Given the description of an element on the screen output the (x, y) to click on. 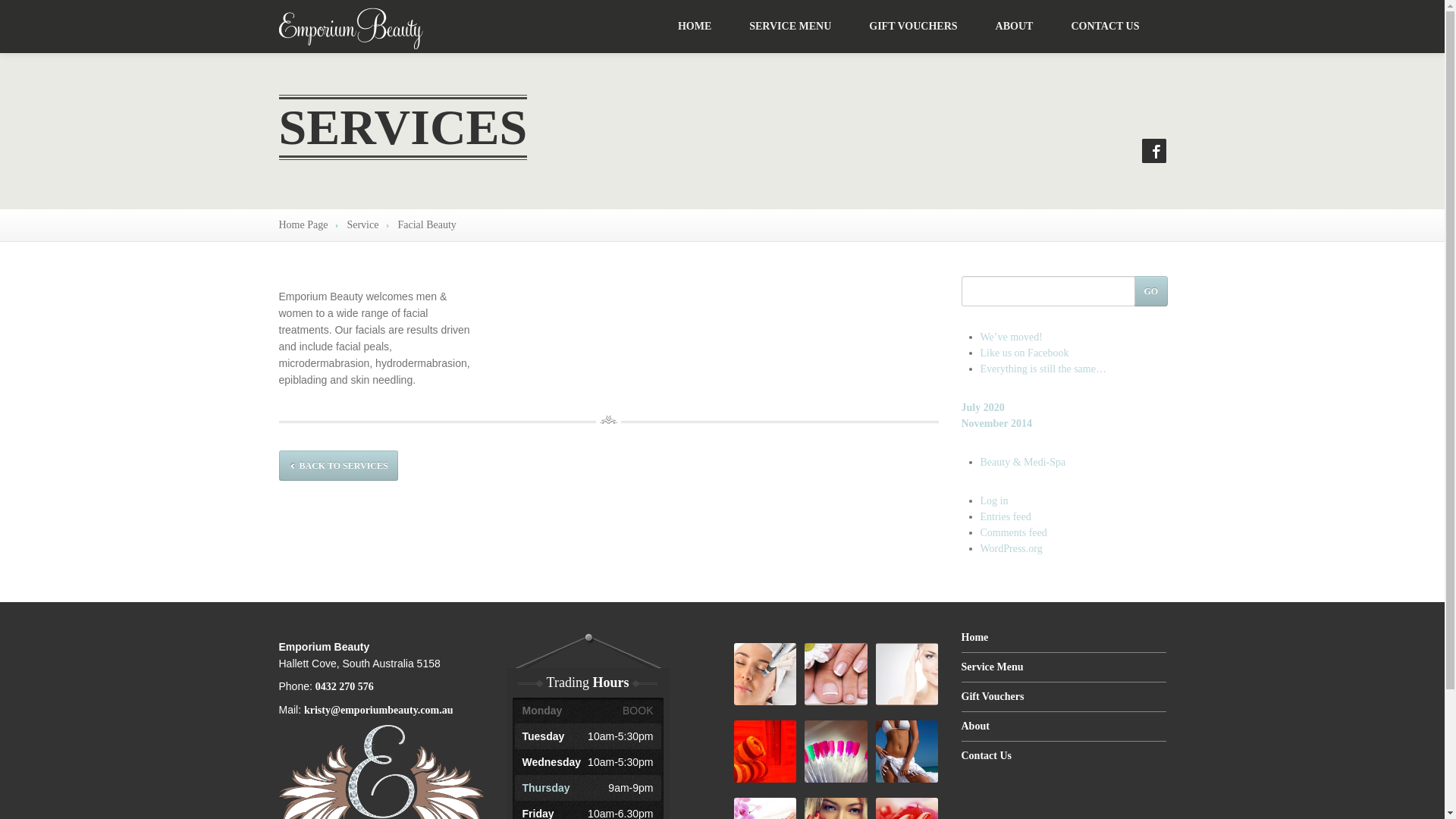
Like us on Facebook Element type: text (1023, 352)
SERVICE MENU Element type: text (790, 26)
0432 270 576 Element type: text (344, 686)
Home Page Element type: text (303, 224)
kristy@emporiumbeauty.com.au Element type: text (378, 709)
GIFT VOUCHERS Element type: text (912, 26)
GO Element type: text (1151, 291)
July 2020 Element type: text (982, 407)
Gift Vouchers Element type: text (1063, 697)
Service Element type: text (362, 224)
HOME Element type: text (694, 26)
About Element type: text (1063, 726)
Log in Element type: text (993, 500)
Service Menu Element type: text (1063, 667)
ABOUT Element type: text (1014, 26)
WordPress.org Element type: text (1010, 548)
BACK TO SERVICES Element type: text (338, 465)
CONTACT US Element type: text (1104, 26)
Comments feed Element type: text (1012, 532)
November 2014 Element type: text (996, 423)
Contact Us Element type: text (1063, 755)
Entries feed Element type: text (1004, 516)
Home Element type: text (1063, 642)
Beauty & Medi-Spa Element type: text (1022, 461)
